Given the description of an element on the screen output the (x, y) to click on. 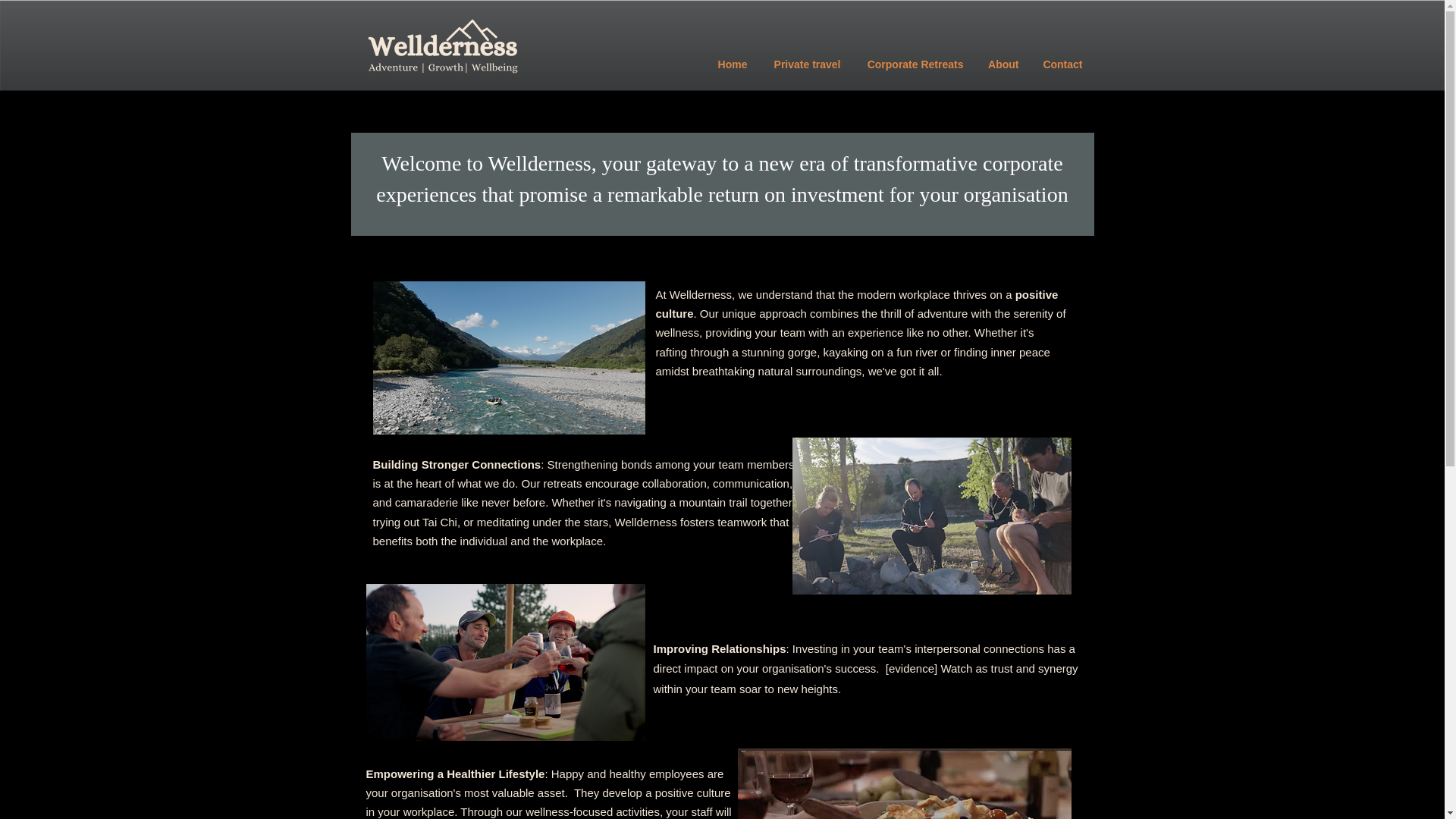
Home (730, 63)
Private travel (804, 63)
Contact (1061, 63)
About (1002, 63)
Corporate Retreats (913, 63)
